Given the description of an element on the screen output the (x, y) to click on. 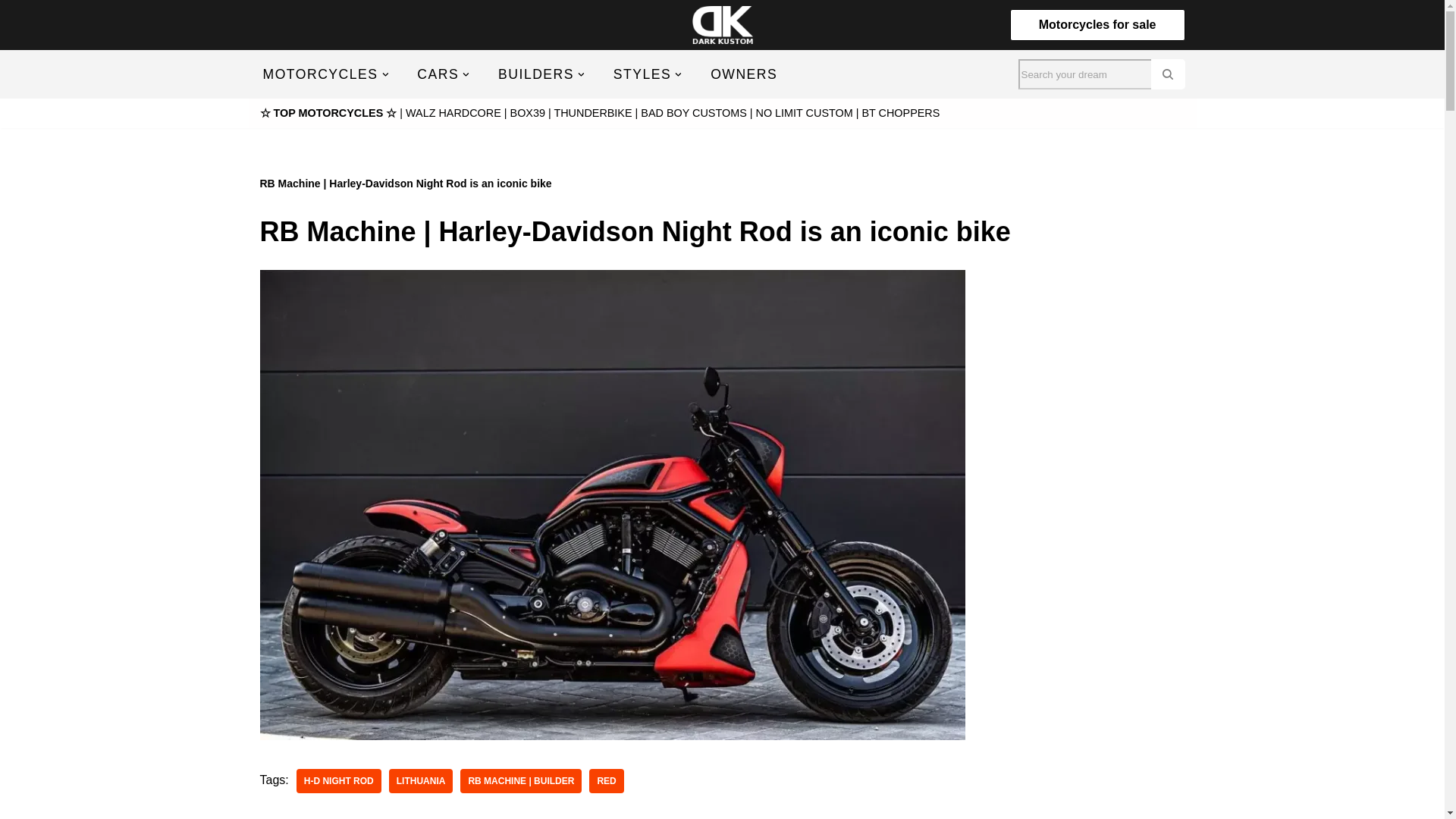
Motorcycles for sale (1097, 24)
Skip to content (11, 31)
MOTORCYCLES (319, 74)
H-D Night Rod (339, 781)
Lithuania (420, 781)
red (606, 781)
